Given the description of an element on the screen output the (x, y) to click on. 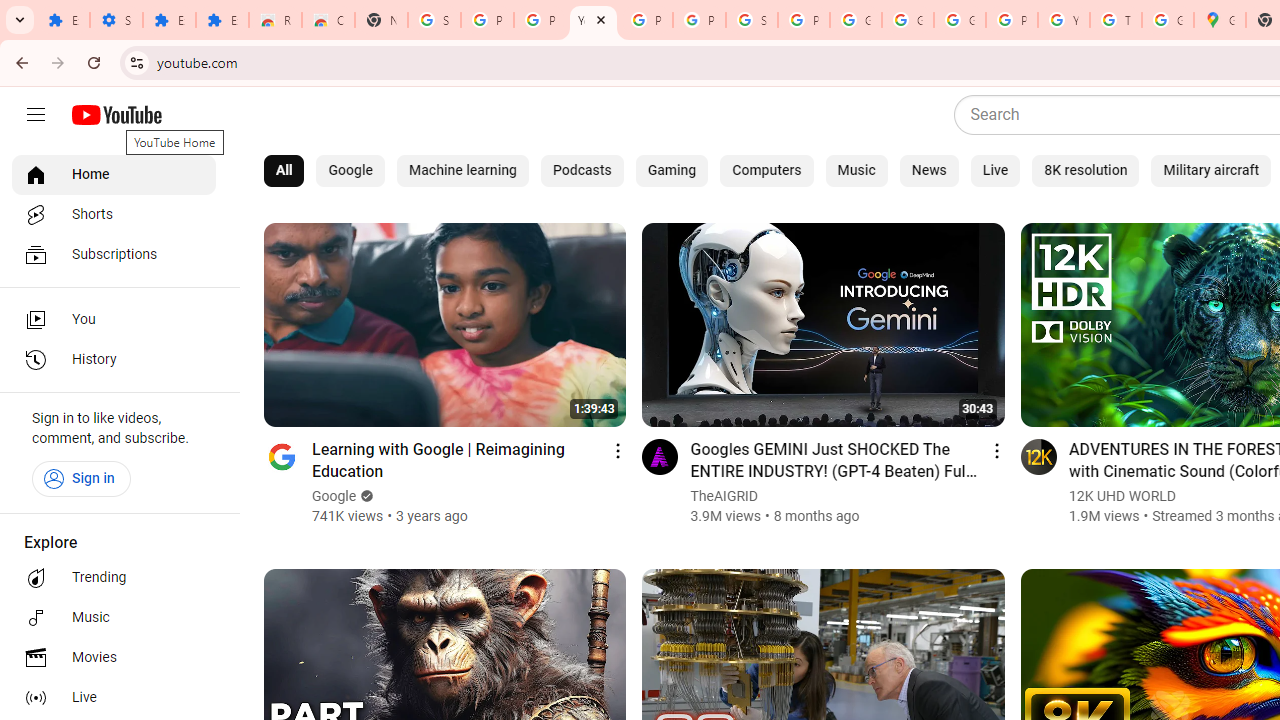
Google Account (855, 20)
